Given the description of an element on the screen output the (x, y) to click on. 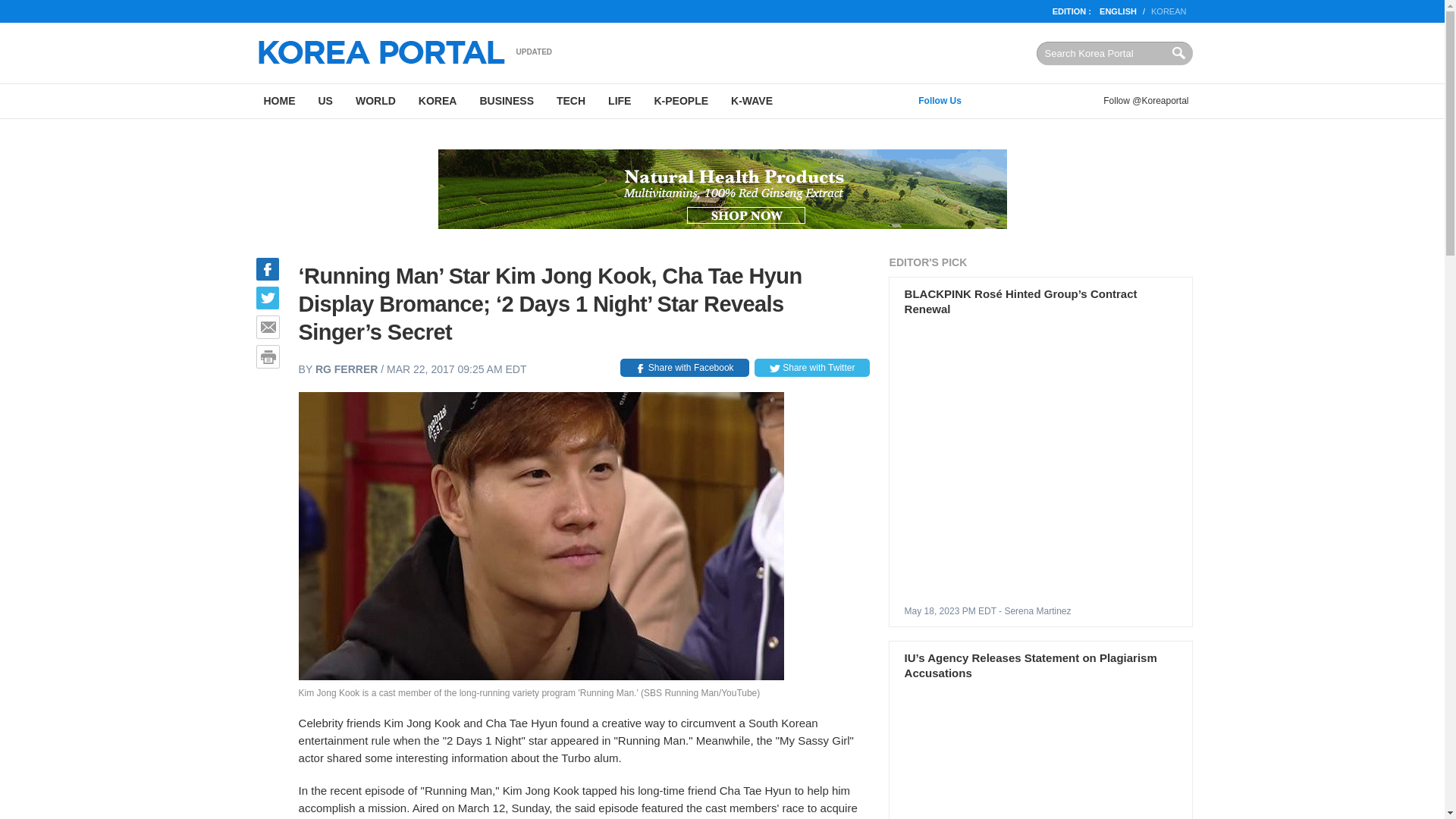
BUSINESS (505, 100)
LIFE (619, 100)
K-WAVE (751, 100)
TECH (570, 100)
ENGLISH (1118, 10)
US (324, 100)
Share with Twitter (811, 367)
K-PEOPLE (680, 100)
WORLD (375, 100)
KOREA (437, 100)
HOME (278, 100)
RG FERRER (346, 369)
Share with Facebook (684, 367)
KOREAN (1168, 10)
